Given the description of an element on the screen output the (x, y) to click on. 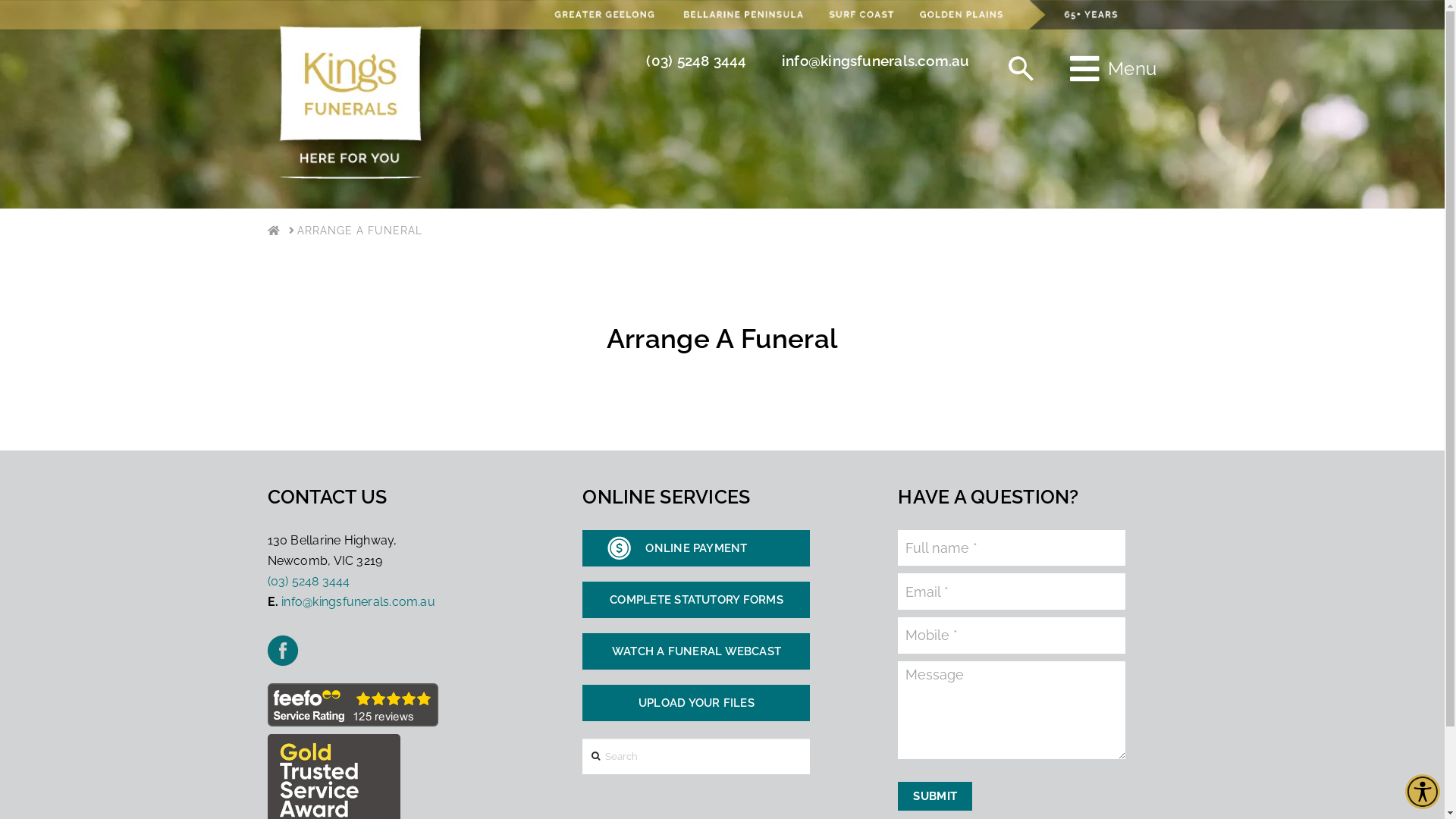
Facebook Element type: text (282, 650)
See what our customers say about us Element type: hover (351, 704)
(03) 5248 3444 Element type: text (696, 60)
UPLOAD YOUR FILES Element type: text (695, 702)
(03) 5248 3444 Element type: text (307, 581)
Menu Element type: text (1112, 69)
info@kingsfunerals.com.au Element type: text (875, 60)
HOME Element type: text (272, 230)
info@kingsfunerals.com.au Element type: text (358, 601)
ONLINE PAYMENT Element type: text (695, 548)
WATCH A FUNERAL WEBCAST Element type: text (695, 651)
COMPLETE STATUTORY FORMS Element type: text (695, 599)
ARRANGE A FUNERAL Element type: text (359, 230)
SUBMIT Element type: text (934, 795)
